Given the description of an element on the screen output the (x, y) to click on. 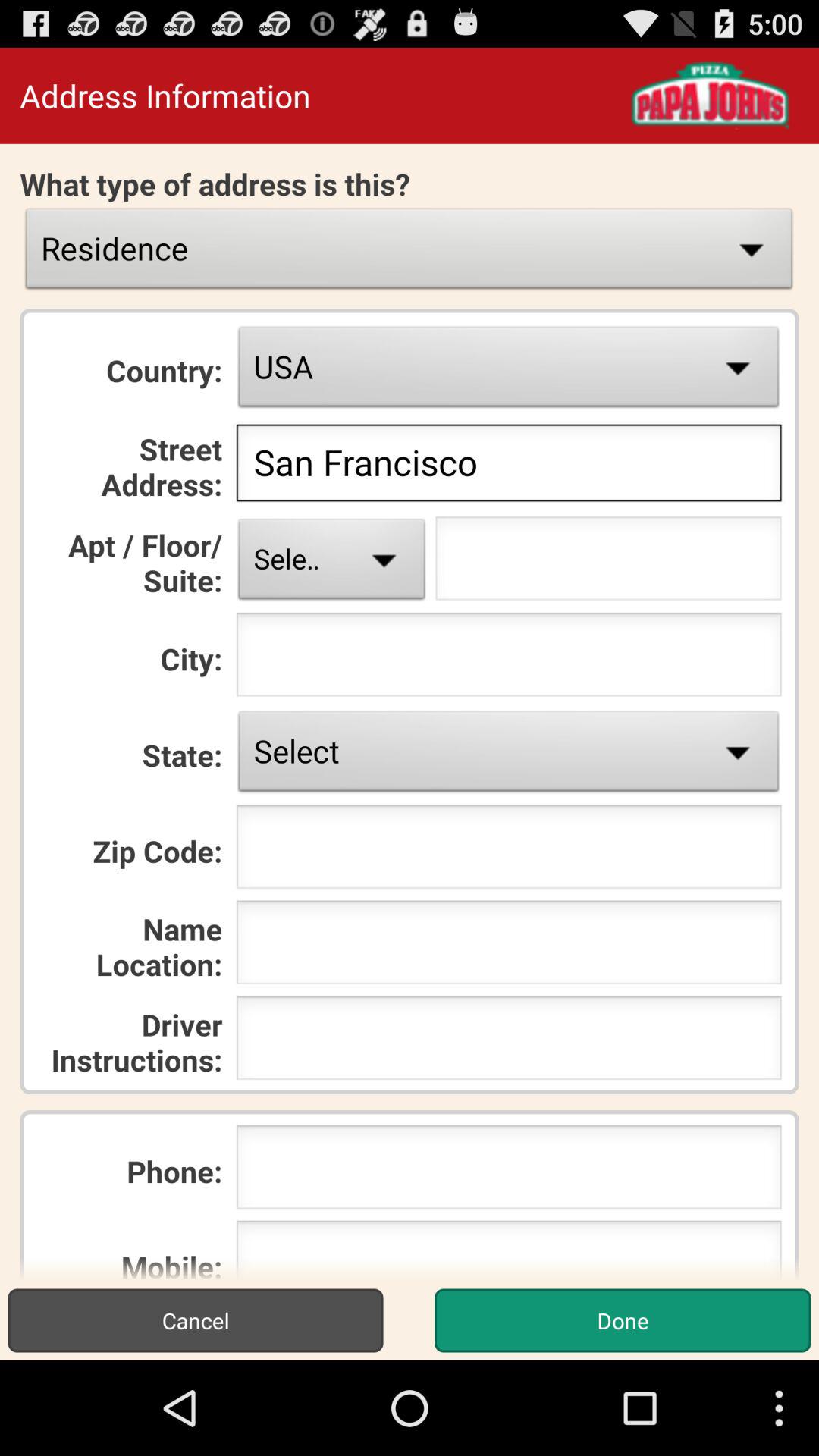
enter driver instructions (508, 1042)
